Given the description of an element on the screen output the (x, y) to click on. 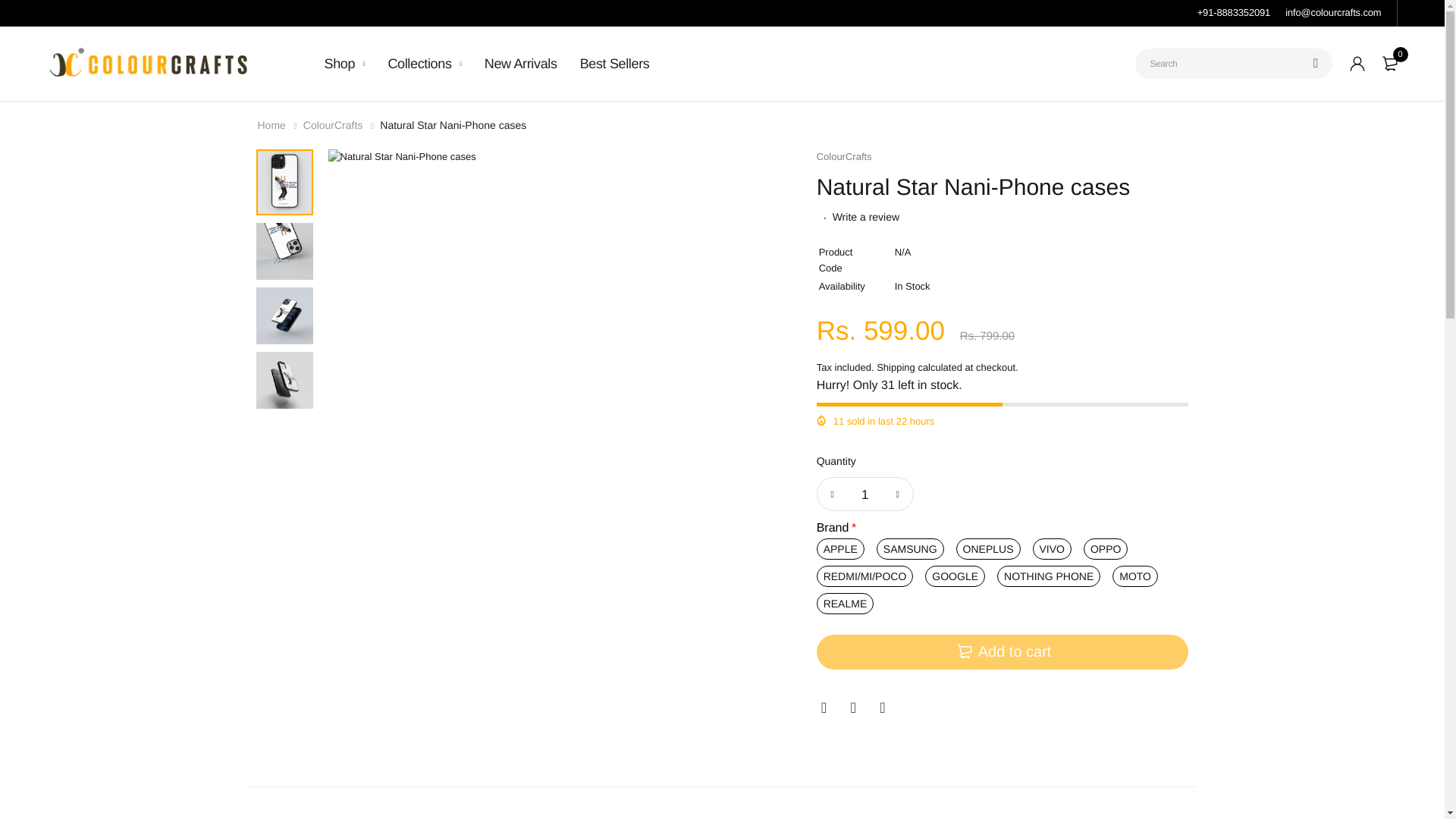
New Arrivals (520, 63)
Best Sellers (614, 63)
Shop (344, 63)
Collections (424, 63)
1 (864, 494)
